Given the description of an element on the screen output the (x, y) to click on. 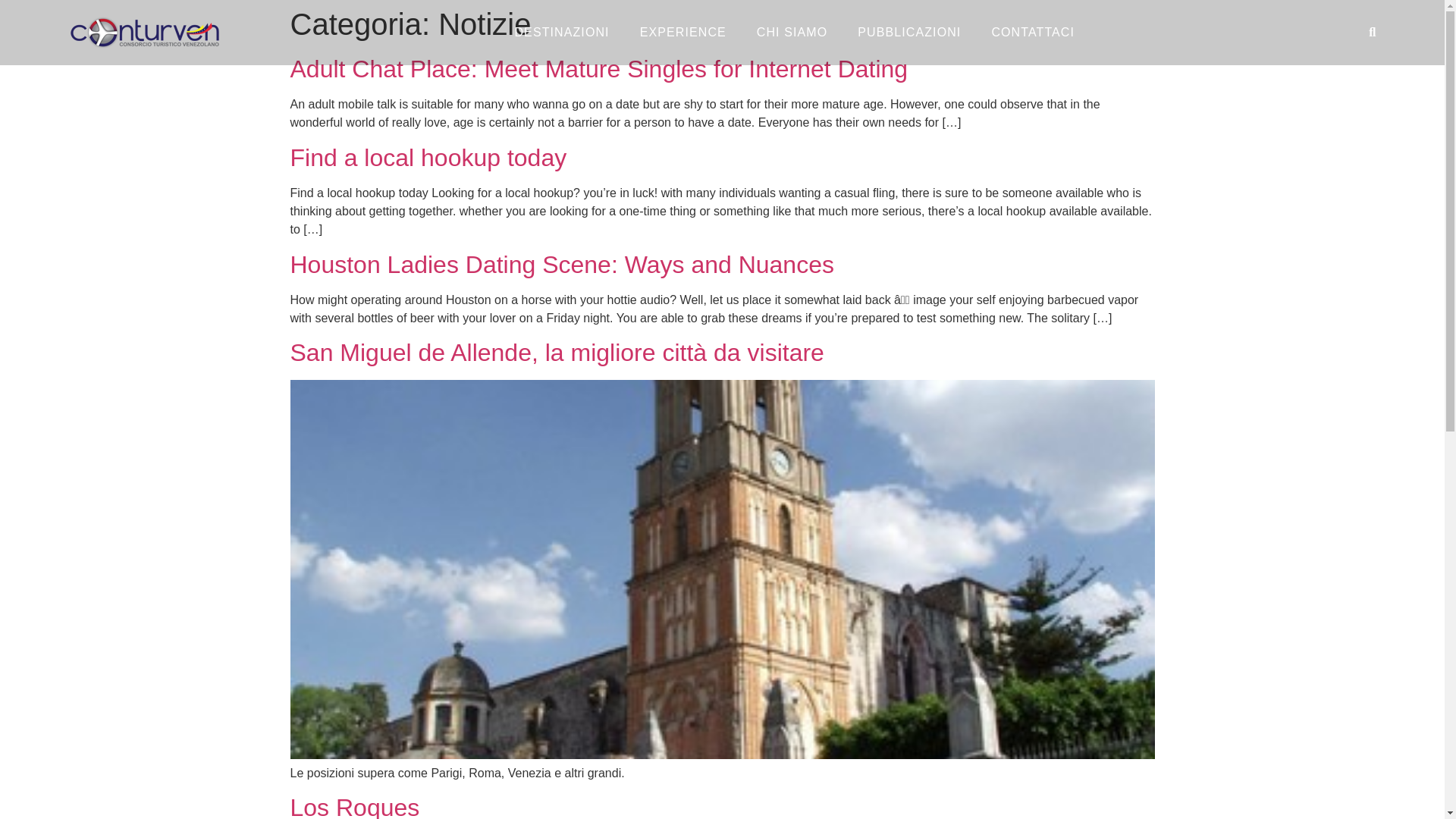
CONTATTACI (1032, 32)
DESTINAZIONI (561, 32)
PUBBLICAZIONI (909, 32)
CHI SIAMO (792, 32)
Los Roques (354, 806)
Find a local hookup today (427, 157)
Adult Chat Place: Meet Mature Singles for Internet Dating (598, 68)
EXPERIENCE (682, 32)
Houston Ladies Dating Scene: Ways and Nuances (560, 264)
